Given the description of an element on the screen output the (x, y) to click on. 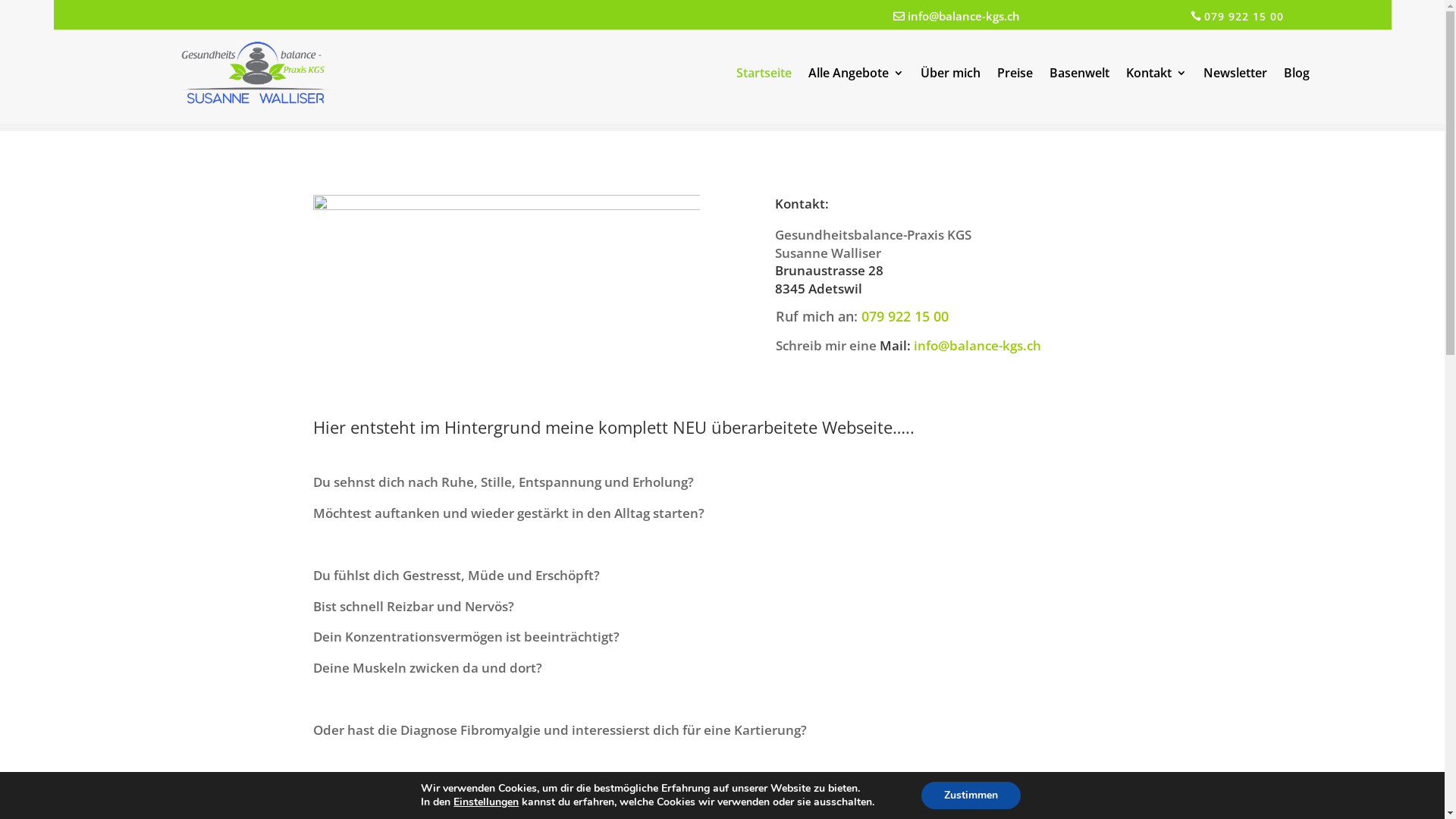
info@balance-kgs.ch Element type: text (964, 16)
079 922 15 00 Element type: text (1237, 16)
Under-Construction-Sign Element type: hover (505, 285)
Alle Angebote Element type: text (855, 75)
Newsletter Element type: text (1235, 75)
Einstellungen Element type: text (485, 802)
Preise Element type: text (1014, 75)
Blog Element type: text (1296, 75)
Basenwelt Element type: text (1079, 75)
079 922 15 00 Element type: text (904, 316)
Zustimmen Element type: text (970, 795)
Kontakt Element type: text (1156, 75)
logo-print-hd-transparent Element type: hover (255, 73)
info@balance-kgs.ch Element type: text (977, 345)
Startseite Element type: text (763, 75)
